Given the description of an element on the screen output the (x, y) to click on. 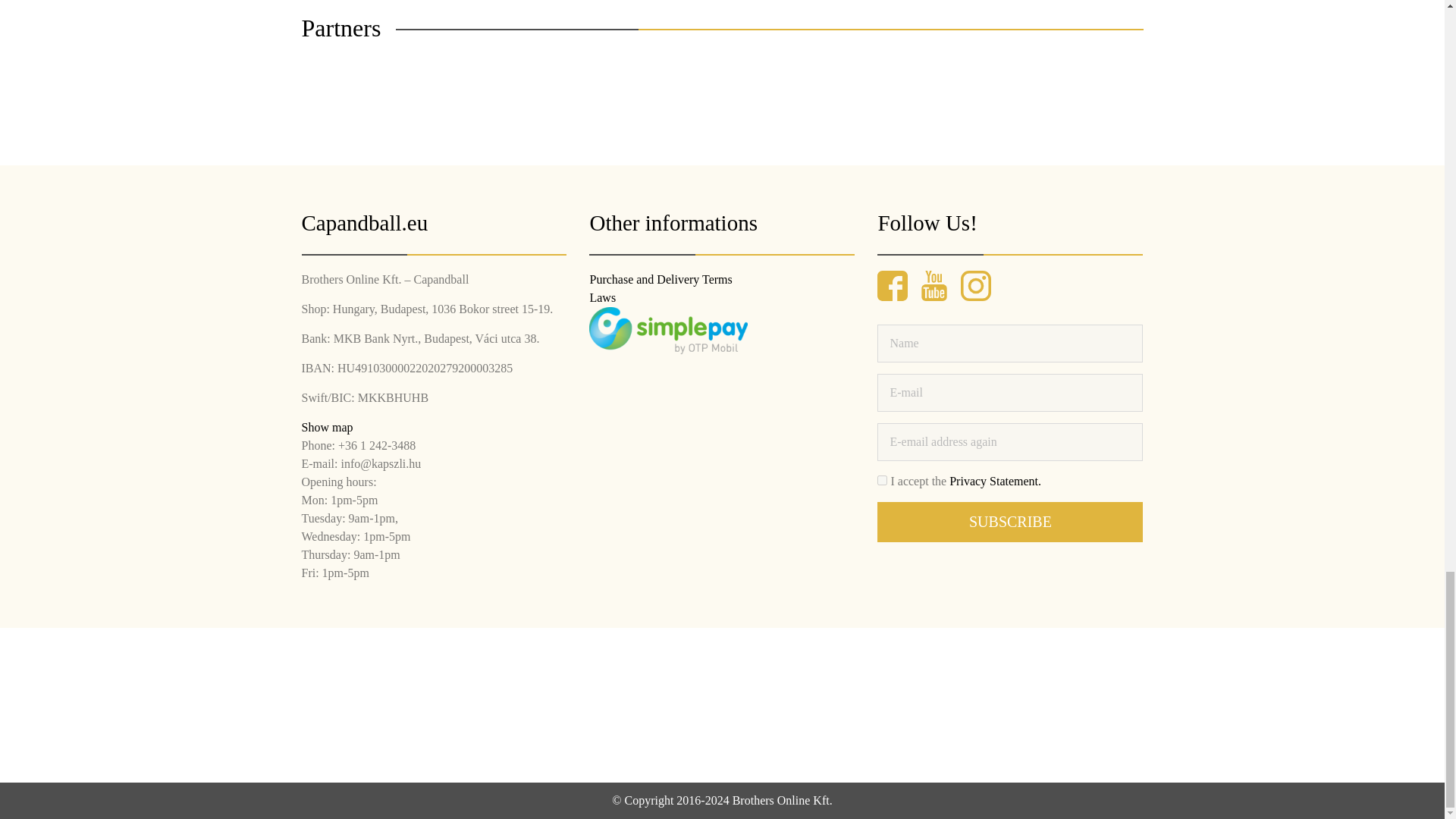
on (881, 480)
